Given the description of an element on the screen output the (x, y) to click on. 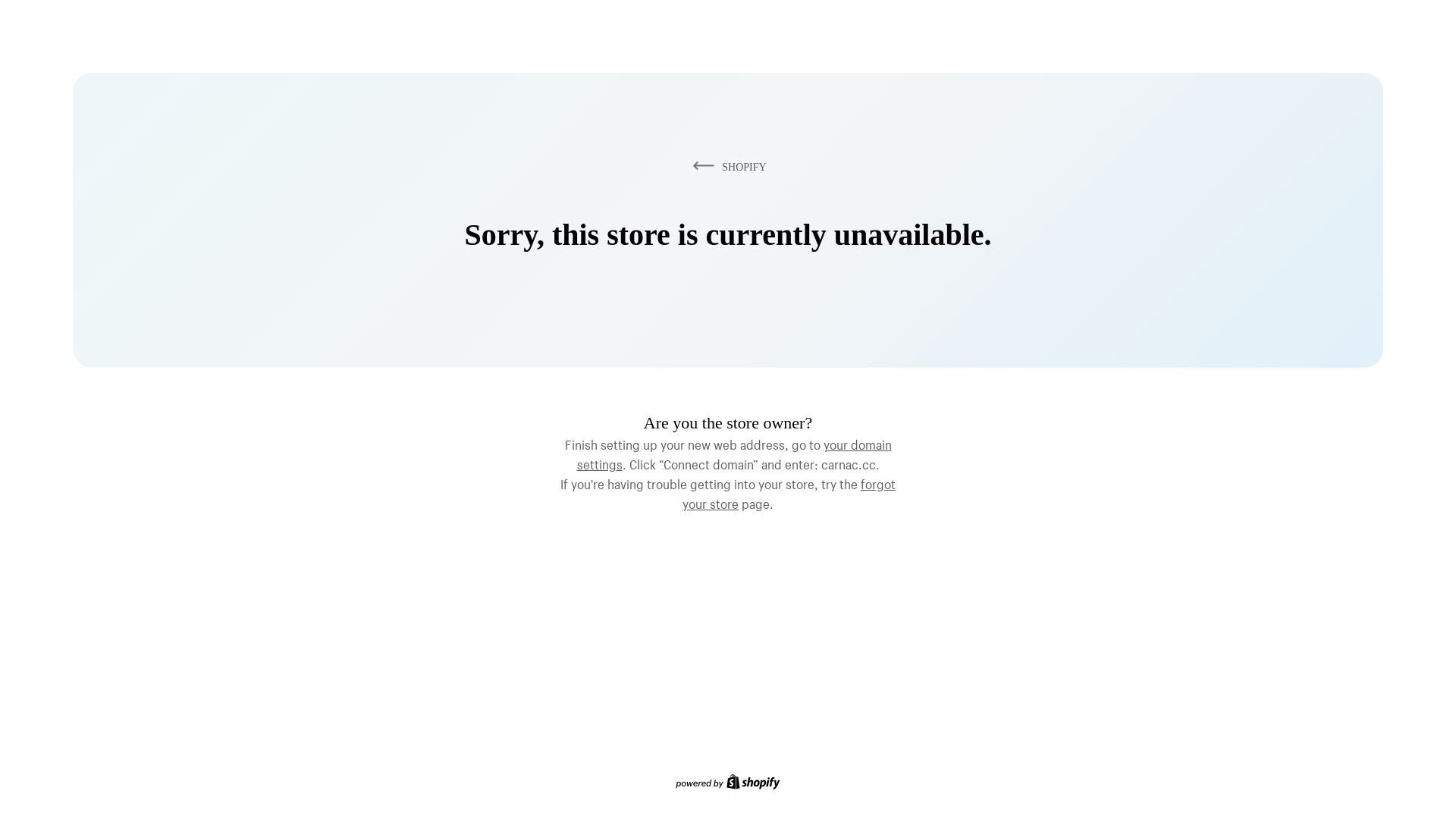
SHOPIFY Element type: text (727, 166)
forgot your store Element type: text (788, 491)
your domain settings Element type: text (733, 452)
